Given the description of an element on the screen output the (x, y) to click on. 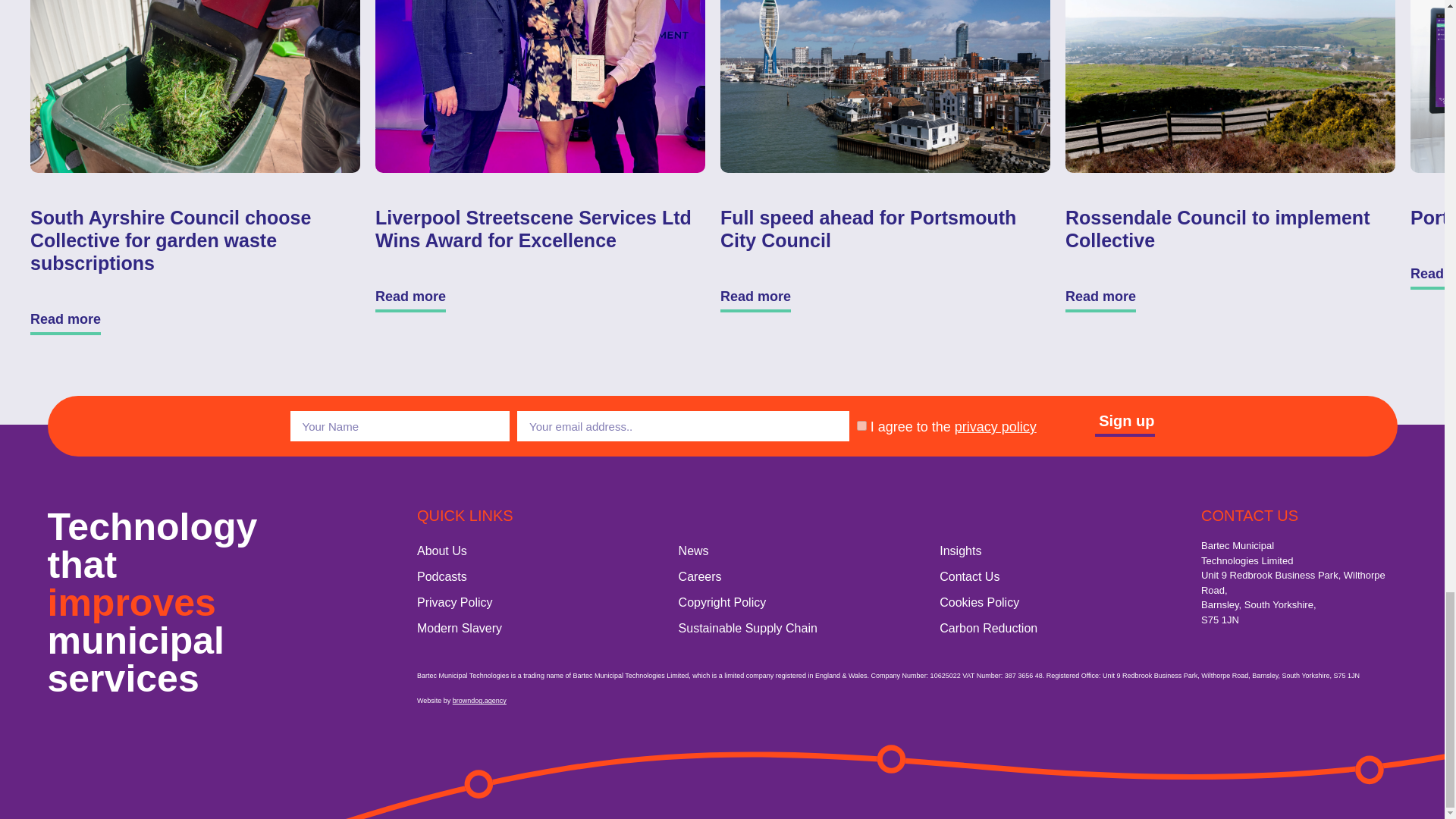
on (861, 425)
